Given the description of an element on the screen output the (x, y) to click on. 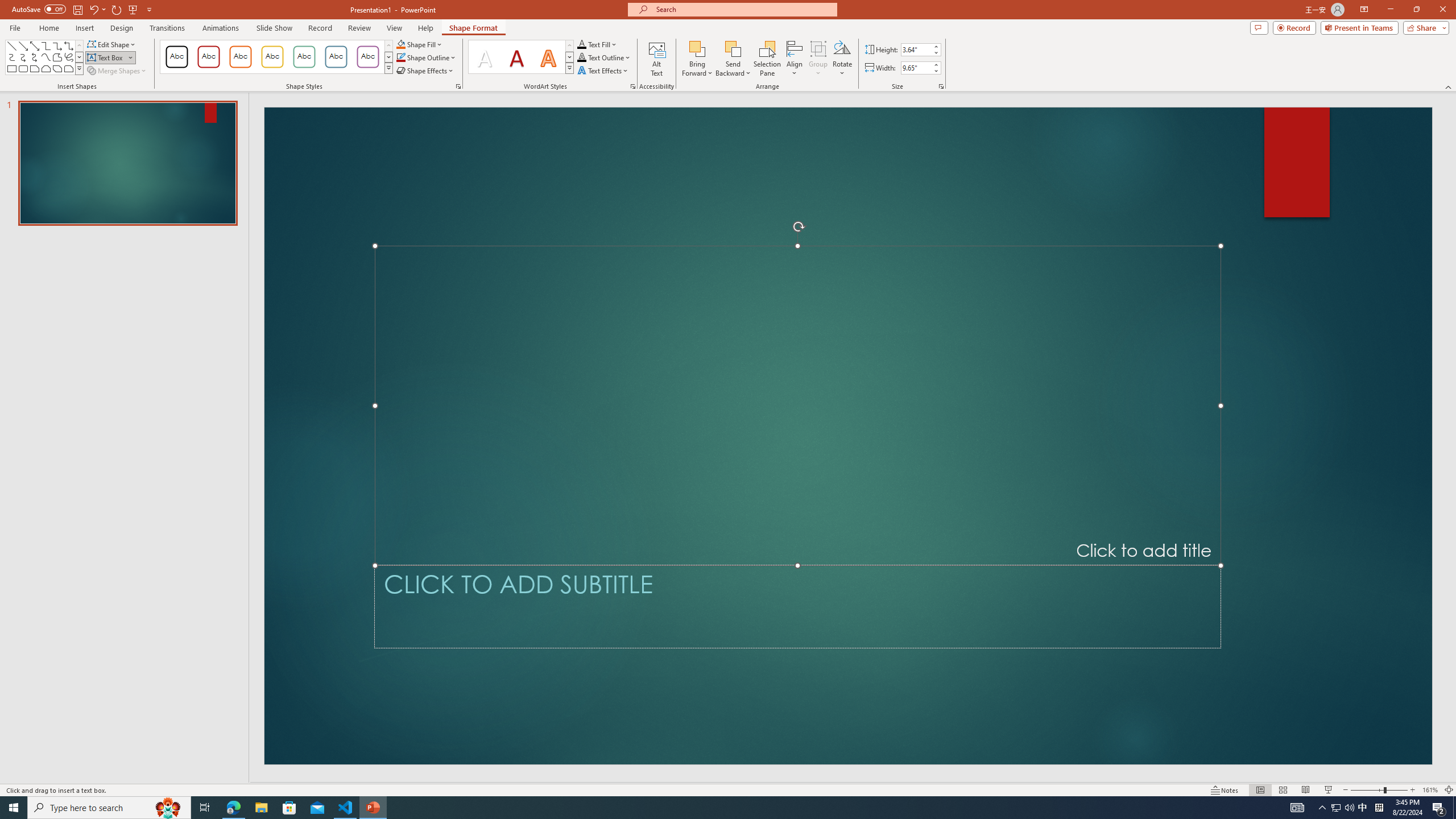
Text Effects (603, 69)
Colored Outline - Dark Red, Accent 1 (208, 56)
Format Text Effects... (632, 85)
Draw Horizontal Text Box (105, 56)
Text Outline (604, 56)
